Given the description of an element on the screen output the (x, y) to click on. 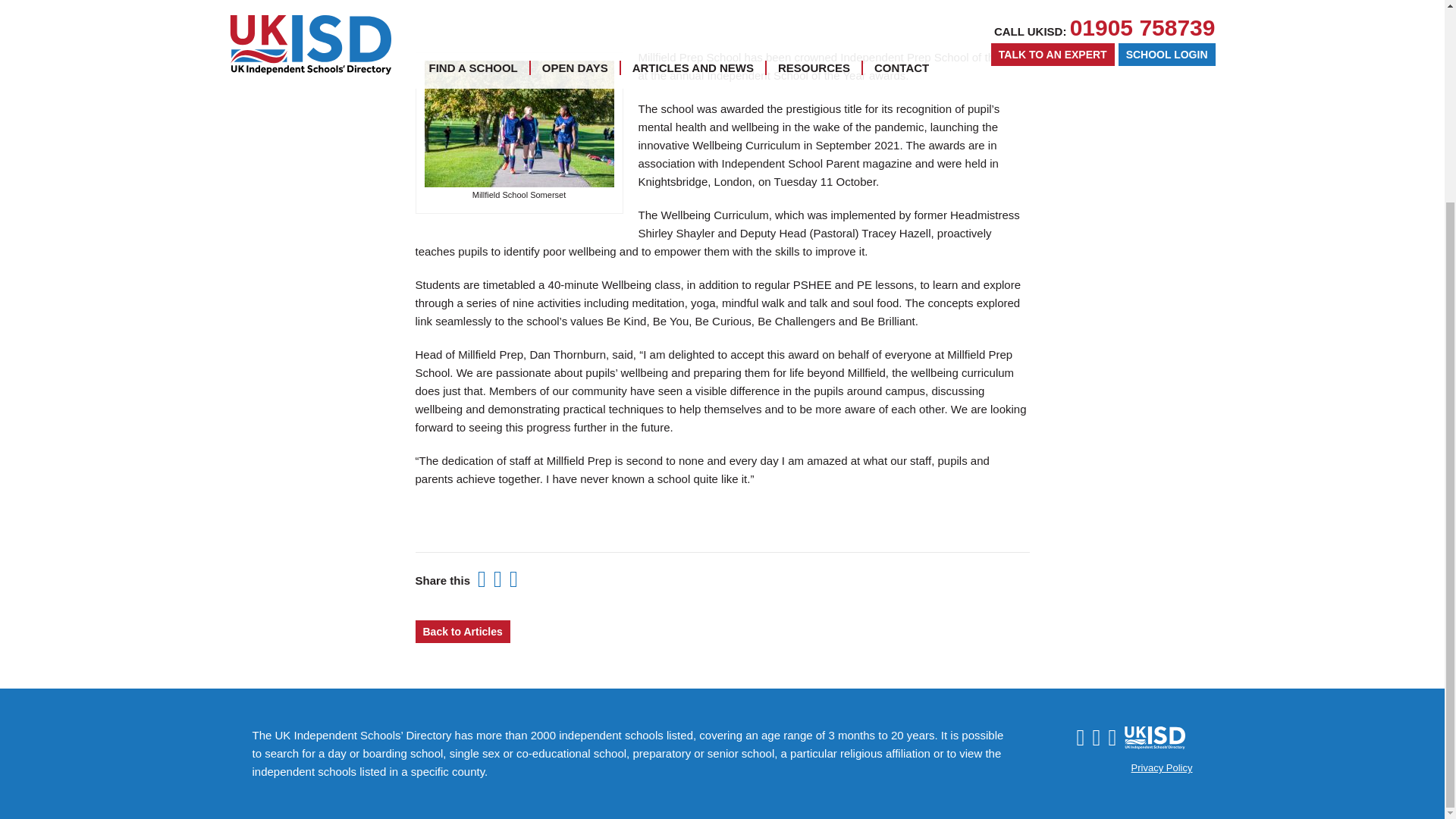
Privacy Policy (1161, 767)
Back to Articles (462, 630)
